Given the description of an element on the screen output the (x, y) to click on. 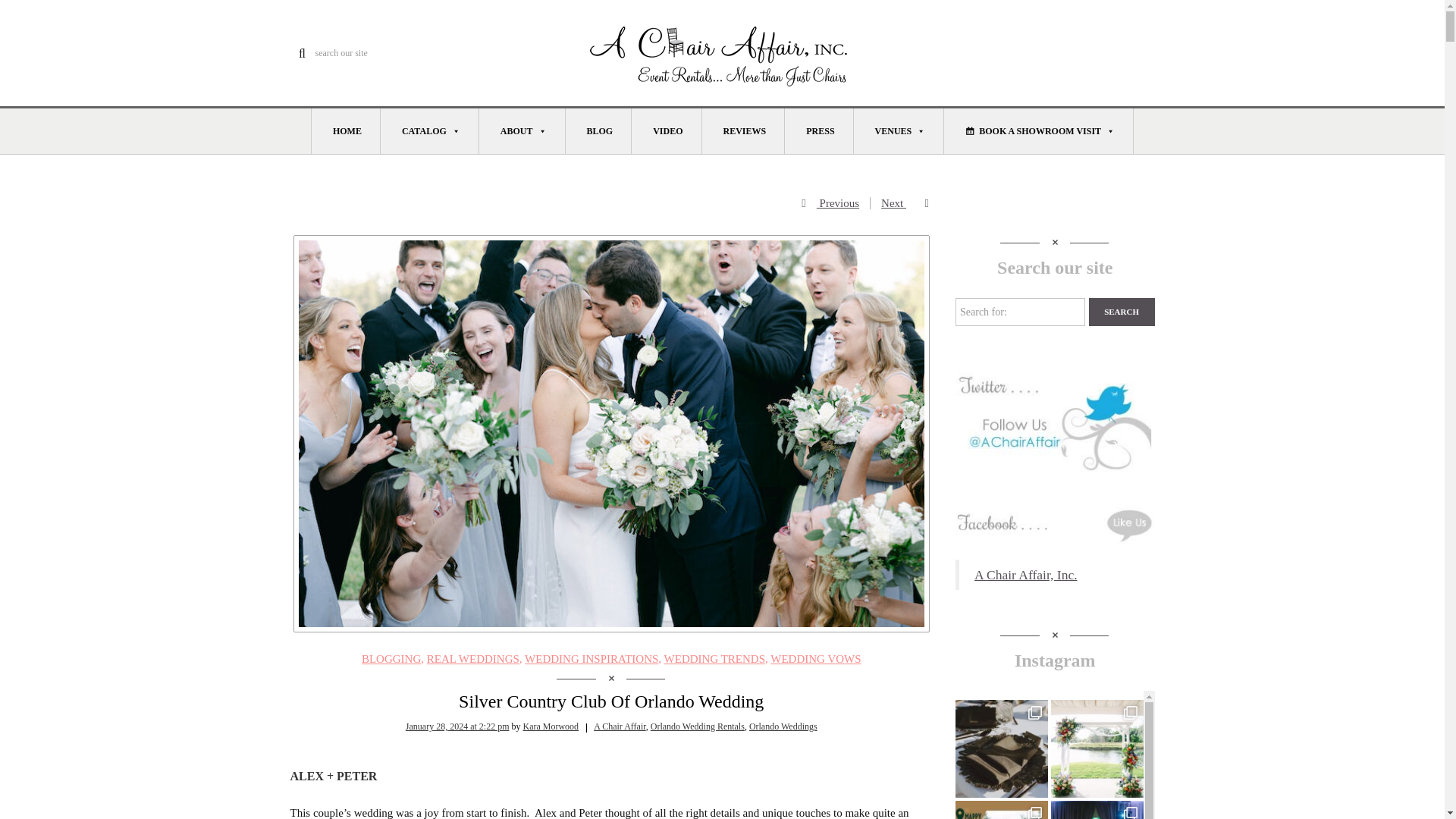
VIDEO (666, 130)
VENUES (898, 130)
PRESS (818, 130)
CATALOG (429, 130)
Search (1121, 311)
ABOUT (522, 130)
HOME (345, 130)
REVIEWS (743, 130)
BLOG (598, 130)
